Given the description of an element on the screen output the (x, y) to click on. 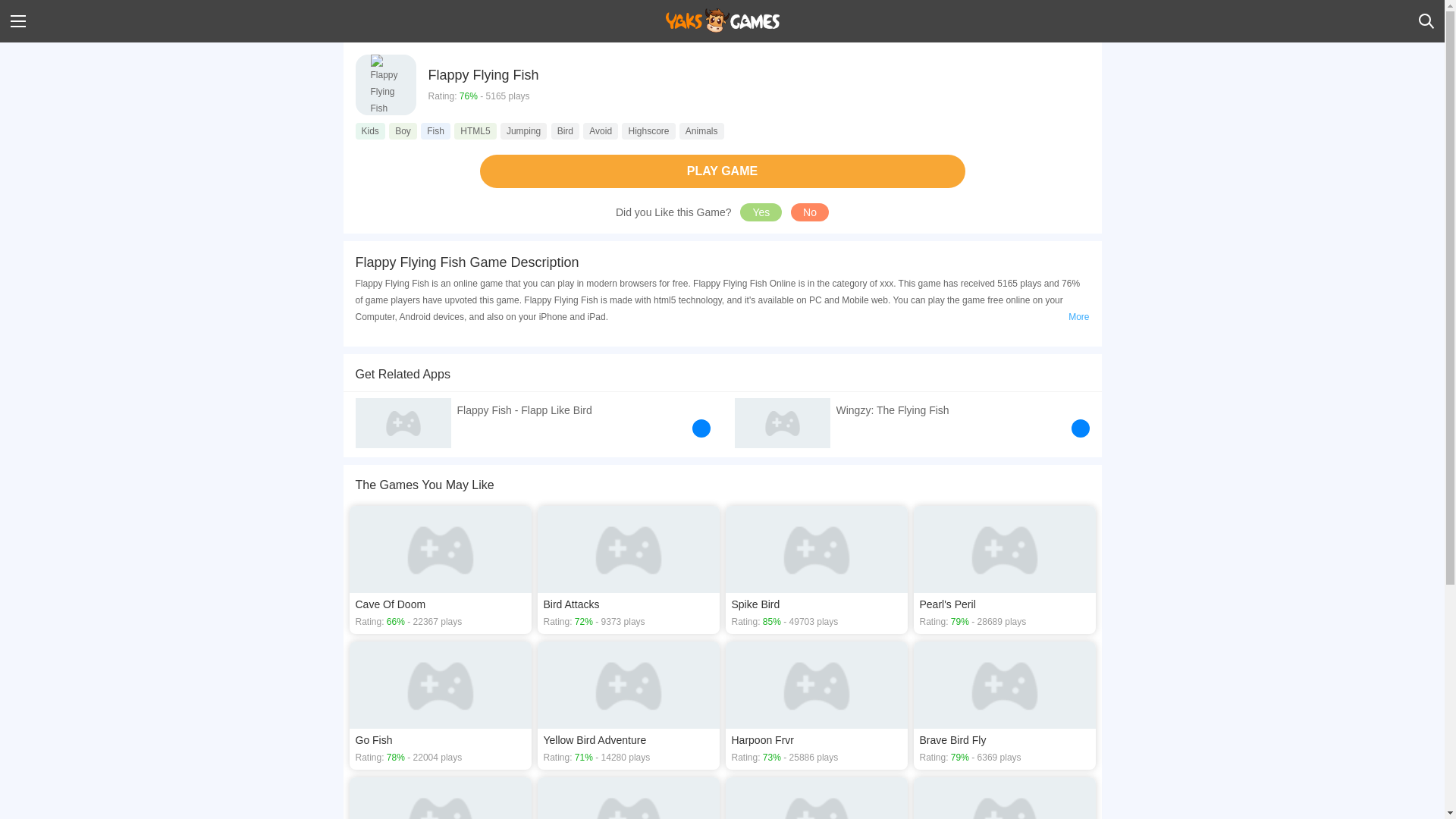
Harpoon Frvr (816, 705)
Flappy Fish - Flapp Like Bird (532, 420)
HTML5 online games (475, 130)
Jumping (523, 130)
Brave Bird Fly (1003, 705)
Bird online games (565, 130)
Pearl's Peril (1003, 569)
Boy online games (402, 130)
Fish Hop (440, 798)
Kids online games (369, 130)
HTML5 (475, 130)
Yellow Bird Adventure (628, 705)
Spike Bird (816, 569)
Jumping online games (523, 130)
Highscore (648, 130)
